Given the description of an element on the screen output the (x, y) to click on. 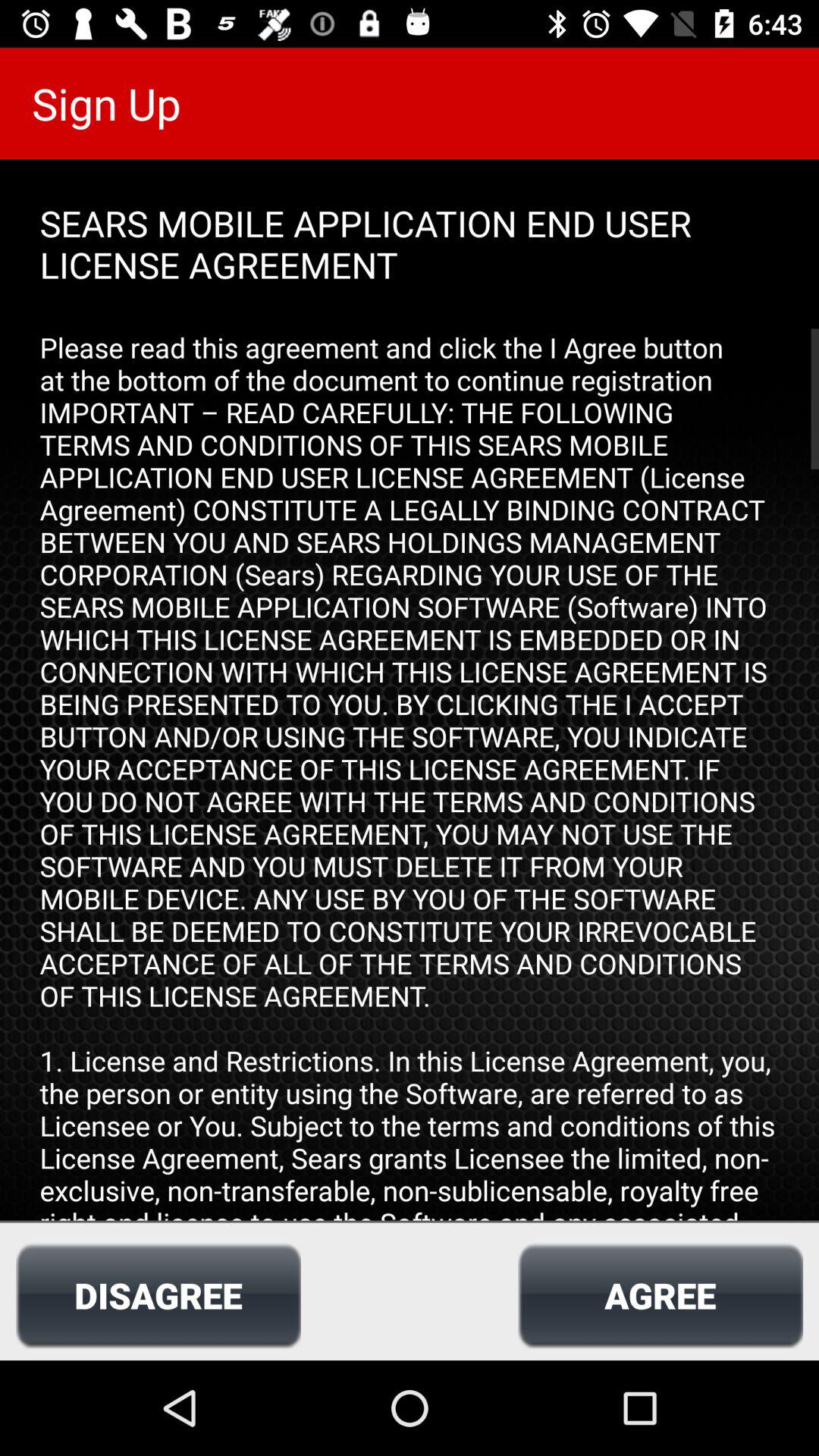
tap the icon next to the agree (157, 1295)
